Given the description of an element on the screen output the (x, y) to click on. 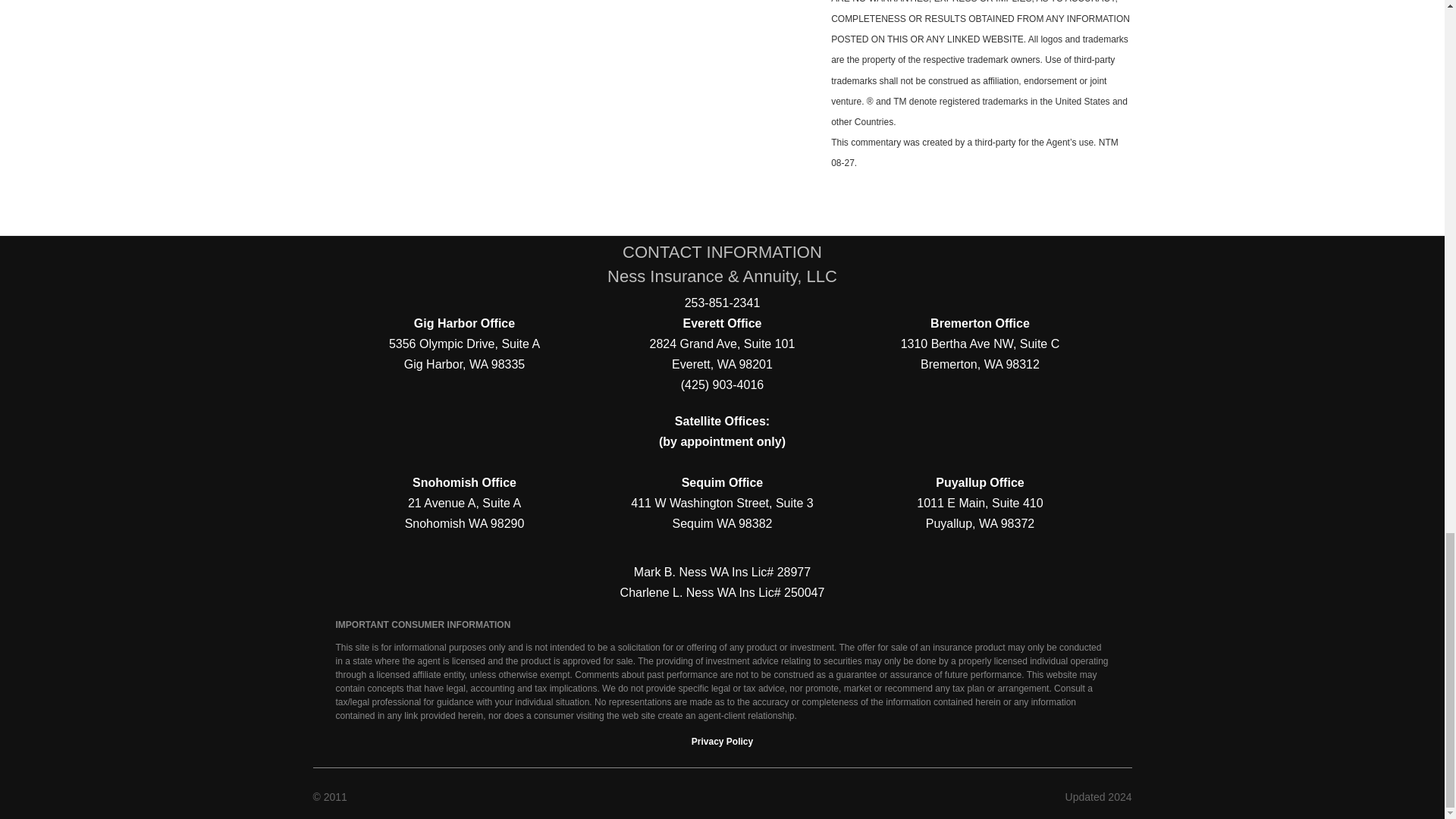
Privacy Policy (721, 741)
